Given the description of an element on the screen output the (x, y) to click on. 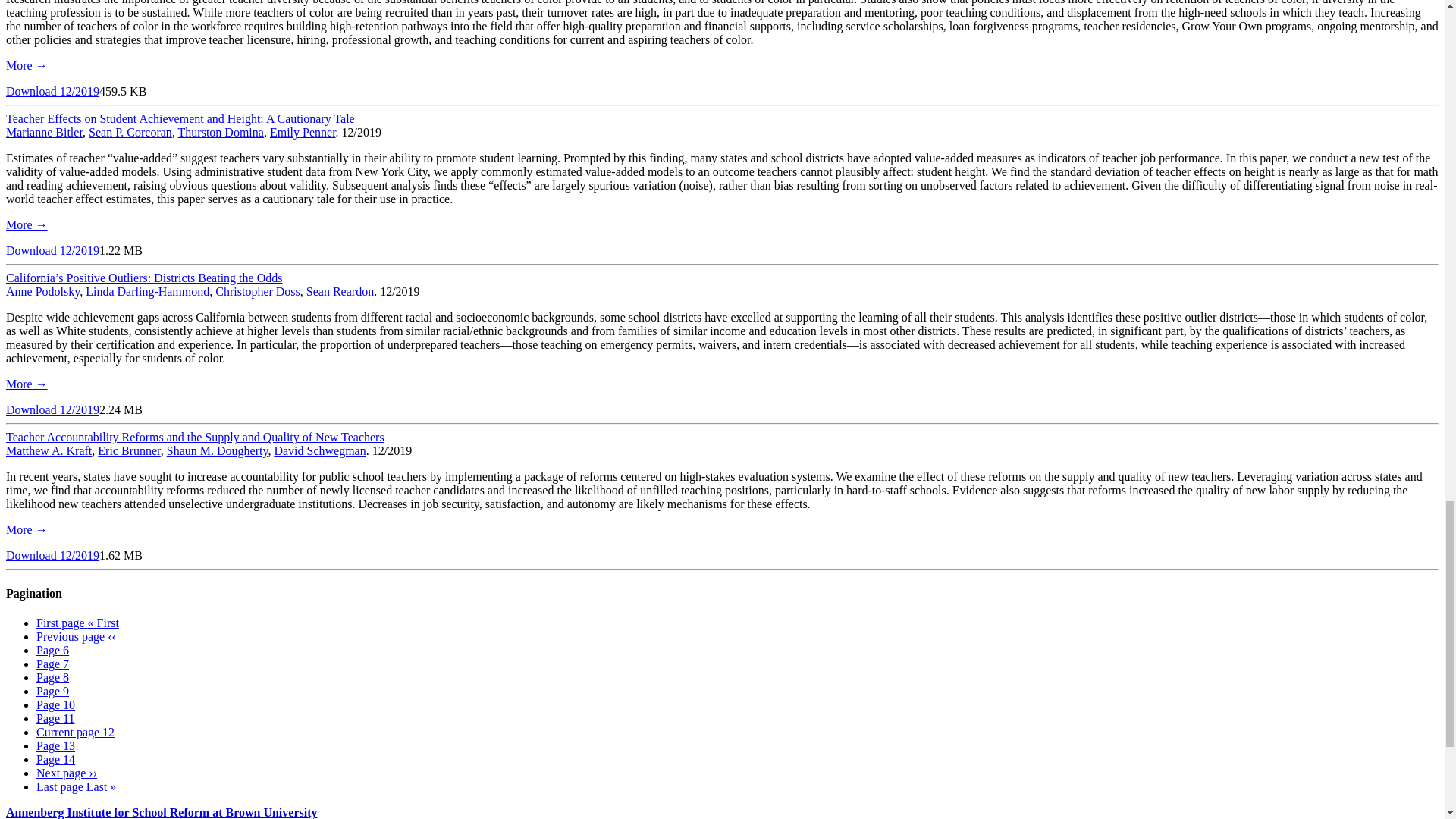
Open file in new window (52, 250)
Go to page 7 (52, 663)
Go to page 10 (55, 704)
Open file in new window (52, 409)
Go to page 6 (52, 649)
Go to previous page (76, 635)
Go to page 9 (52, 690)
Open file in new window (52, 554)
Open file in new window (52, 91)
Go to page 11 (55, 717)
Go to page 8 (52, 676)
Go to first page (77, 622)
